Given the description of an element on the screen output the (x, y) to click on. 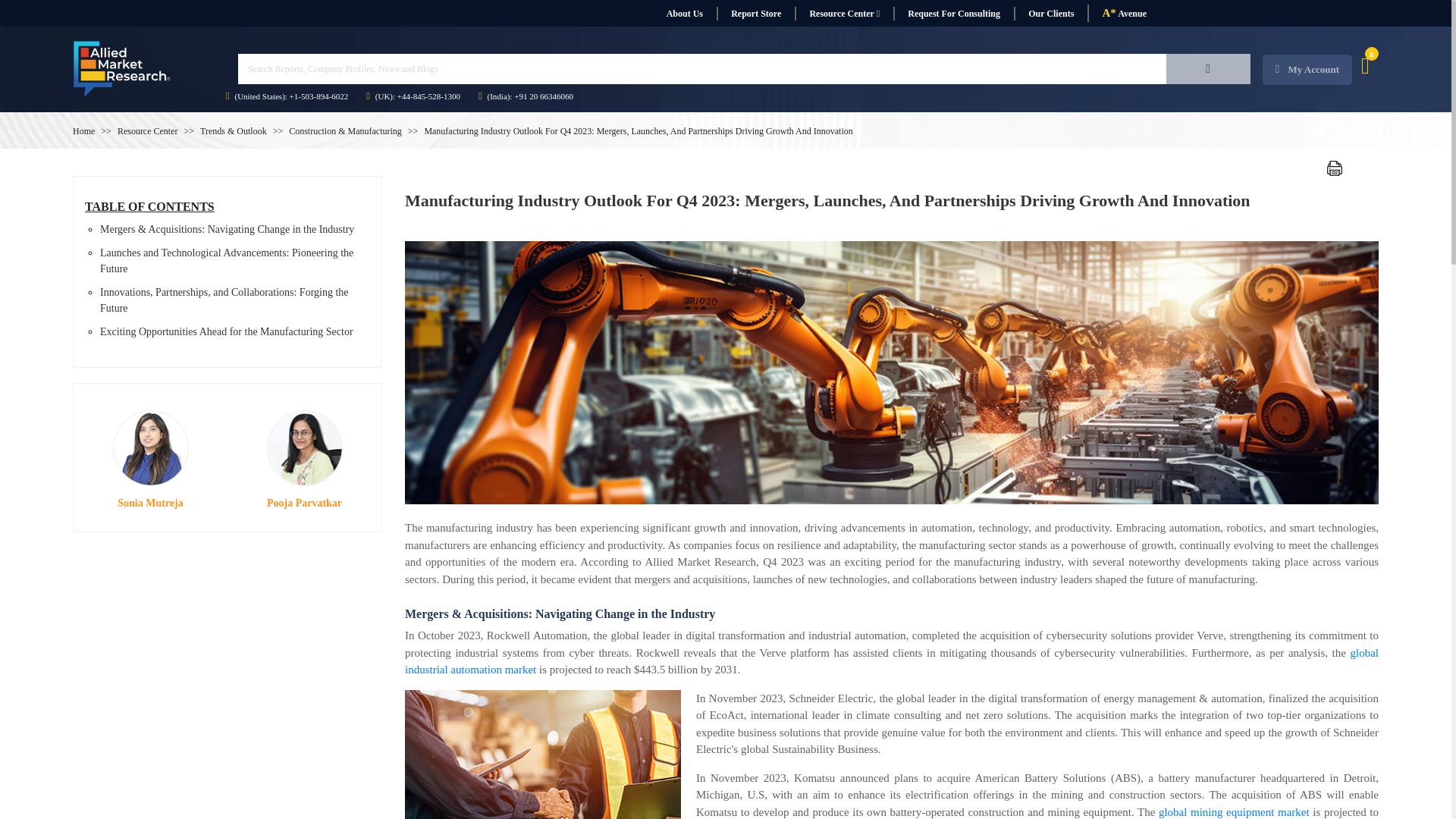
Print PDF (1334, 168)
Request For Consulting (953, 13)
Sonia Mutreja (149, 448)
Our Clients (1050, 13)
Pooja Parvatkar (304, 448)
Resource Center (843, 13)
